Given the description of an element on the screen output the (x, y) to click on. 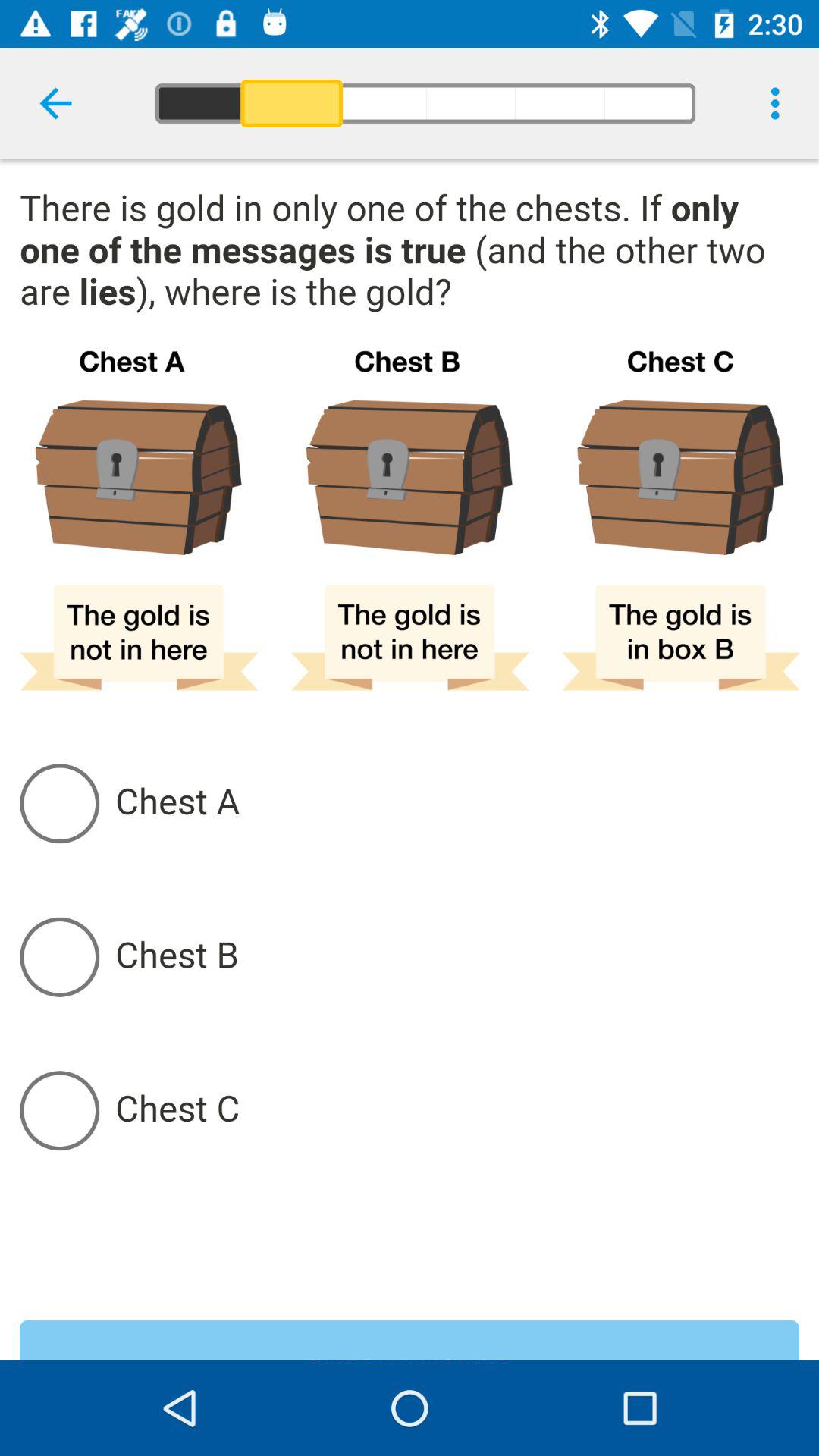
chest a selection (457, 803)
